Given the description of an element on the screen output the (x, y) to click on. 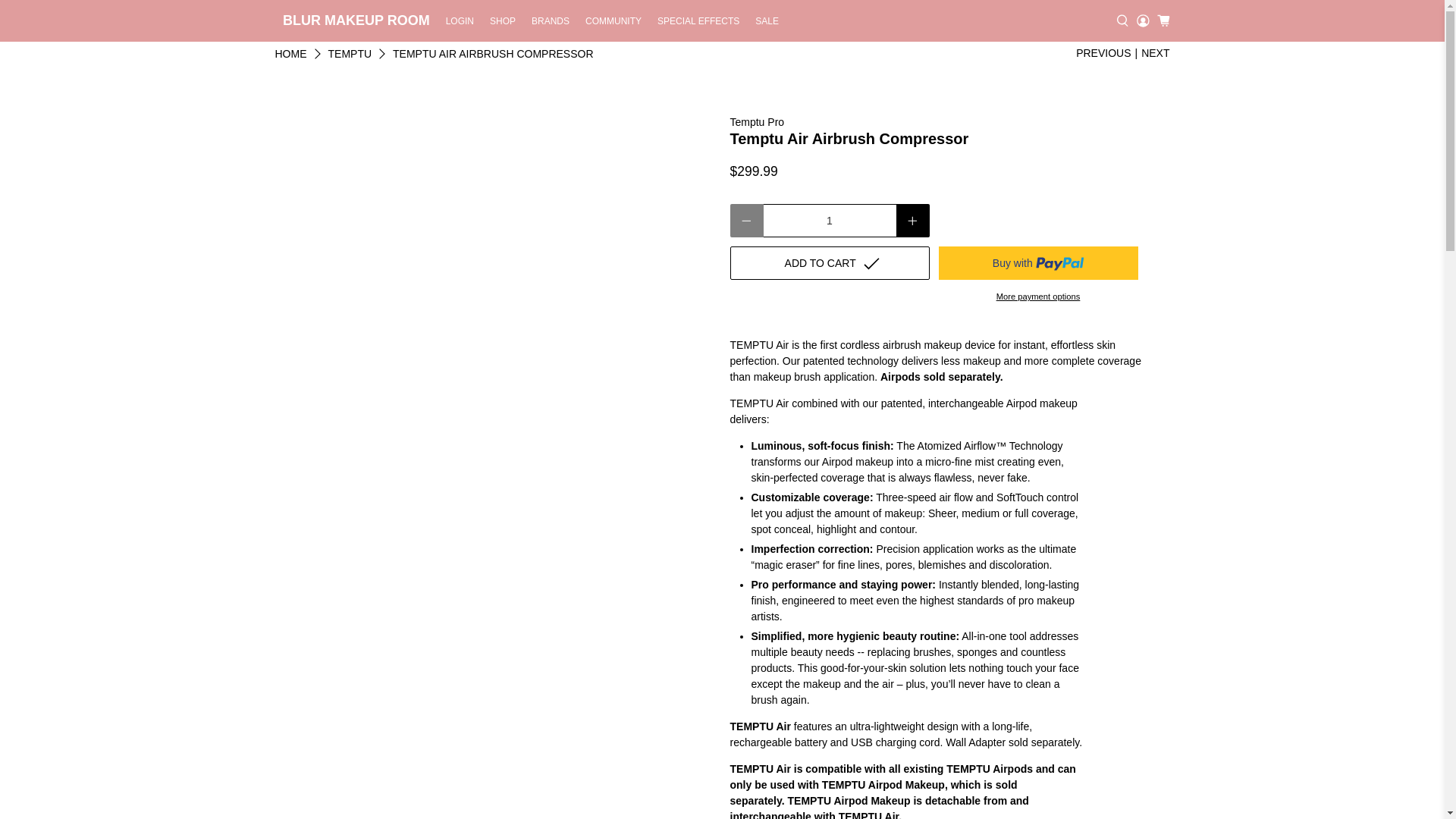
Next (1155, 53)
LOGIN (459, 20)
Temptu Pro (756, 121)
Blur Makeup Room (290, 53)
SHOP (502, 20)
1 (828, 220)
COMMUNITY (613, 20)
SPECIAL EFFECTS (698, 20)
TEMPTU (349, 53)
BLUR MAKEUP ROOM (355, 20)
BRANDS (551, 20)
SALE (767, 20)
Previous (1103, 53)
